Given the description of an element on the screen output the (x, y) to click on. 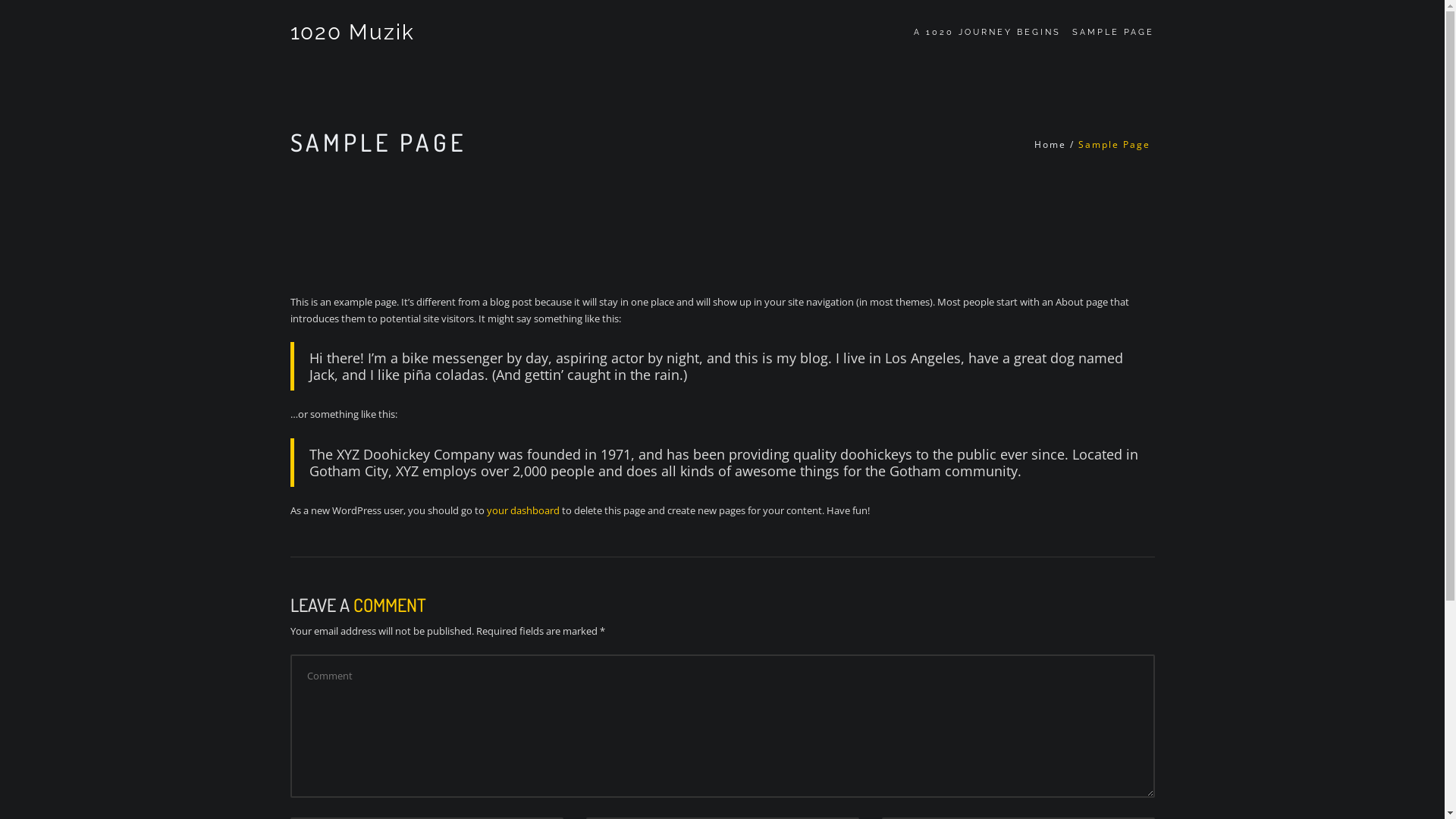
A 1020 JOURNEY BEGINS Element type: text (981, 32)
your dashboard Element type: text (522, 510)
Home Element type: text (1050, 144)
SAMPLE PAGE Element type: text (1107, 32)
1020 Muzik Element type: text (351, 31)
